Given the description of an element on the screen output the (x, y) to click on. 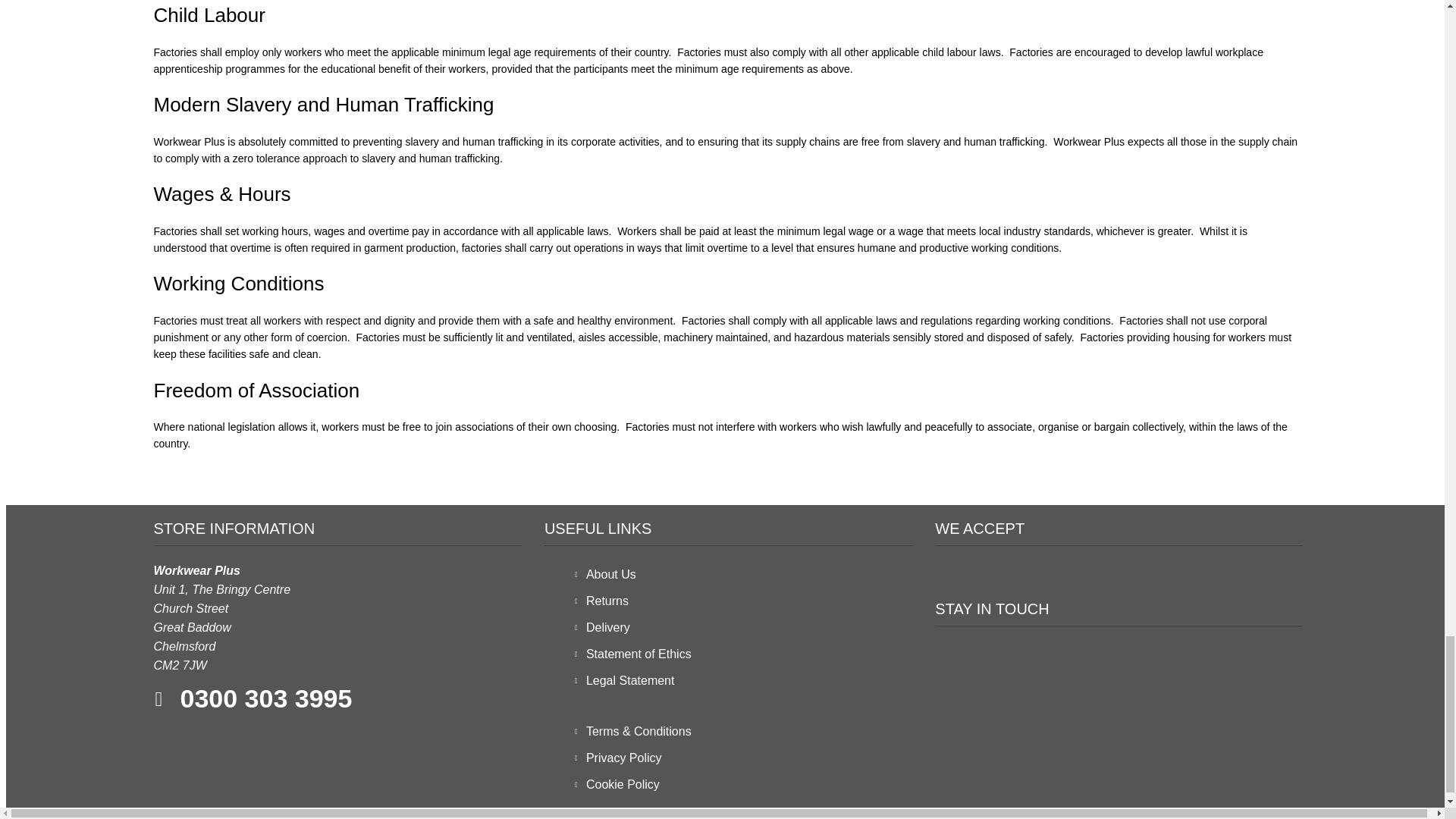
Legal Statement (625, 680)
About Us (605, 574)
Delivery (602, 626)
Privacy Policy (618, 757)
Cookie Policy (617, 784)
Statement of Ethics (633, 653)
